Given the description of an element on the screen output the (x, y) to click on. 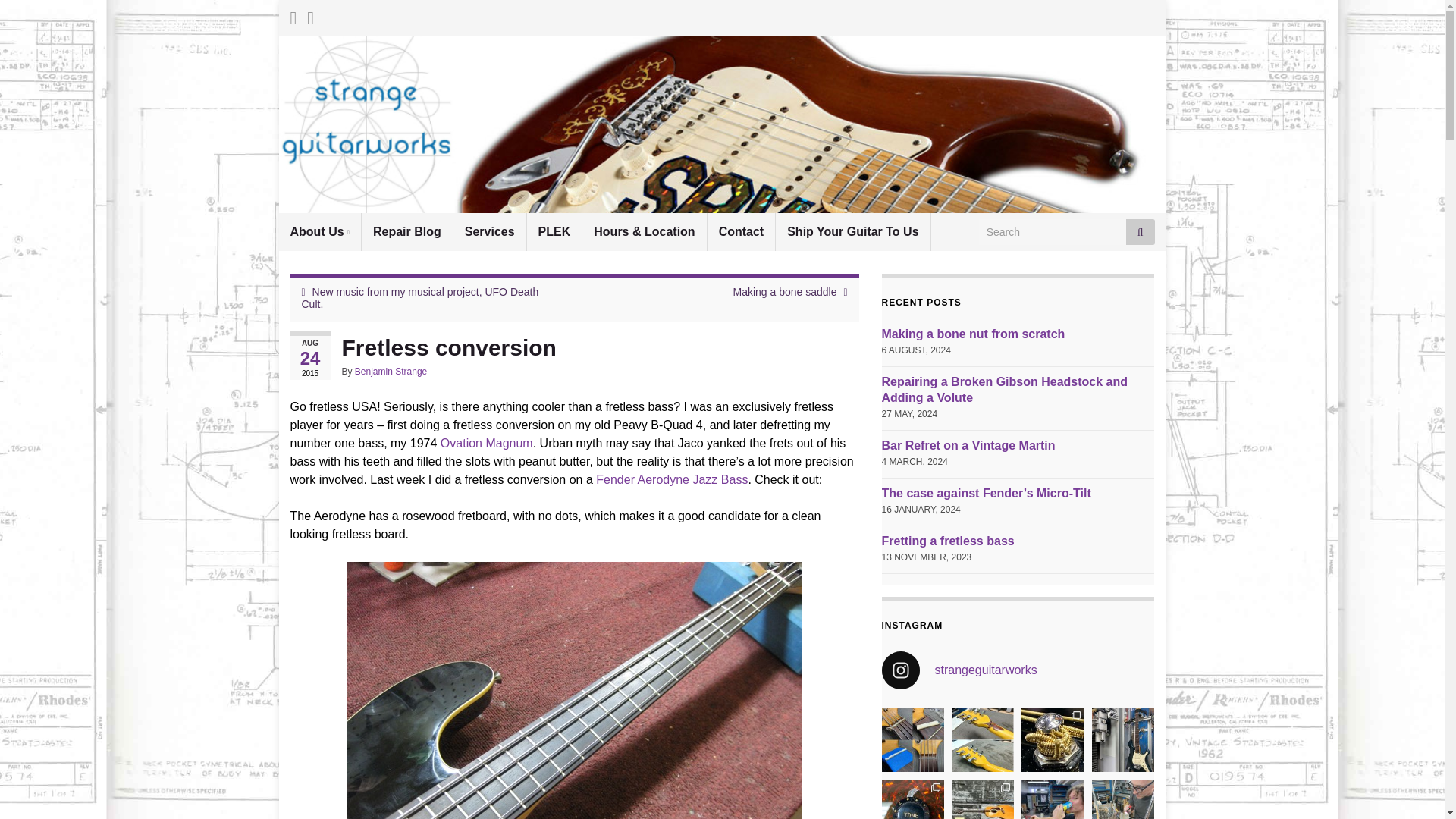
Bar Refret on a Vintage Martin (967, 445)
About Us (320, 231)
Repairing a Broken Gibson Headstock and Adding a Volute (1003, 389)
Ovation Magnum (486, 442)
Contact (741, 231)
PLEK (554, 231)
Fender Aerodyne Jazz Bass (671, 479)
Fretting a fretless bass (946, 540)
Repair Blog (406, 231)
